Given the description of an element on the screen output the (x, y) to click on. 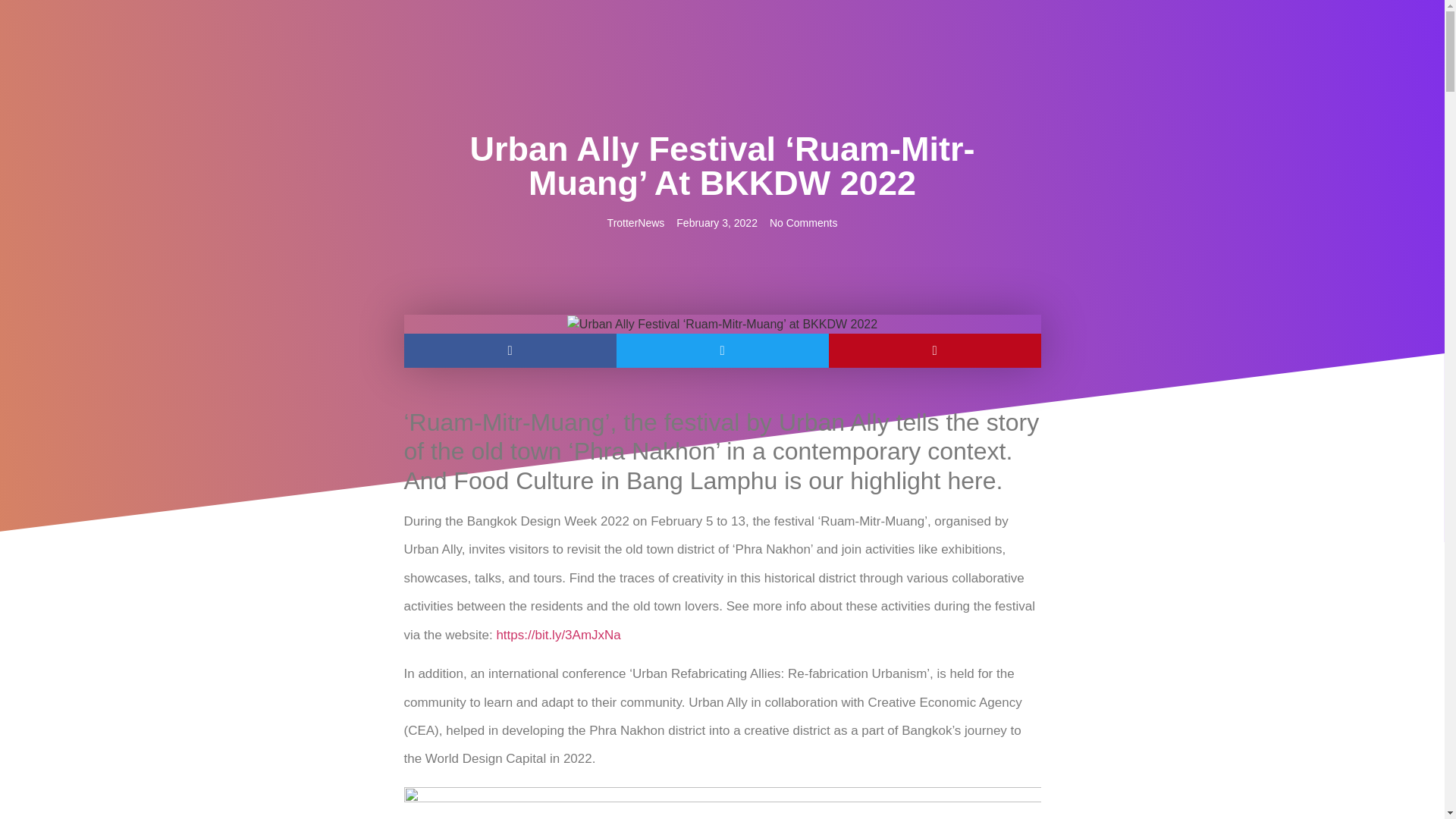
No Comments (803, 222)
February 3, 2022 (717, 222)
TrotterNews (636, 222)
